Given the description of an element on the screen output the (x, y) to click on. 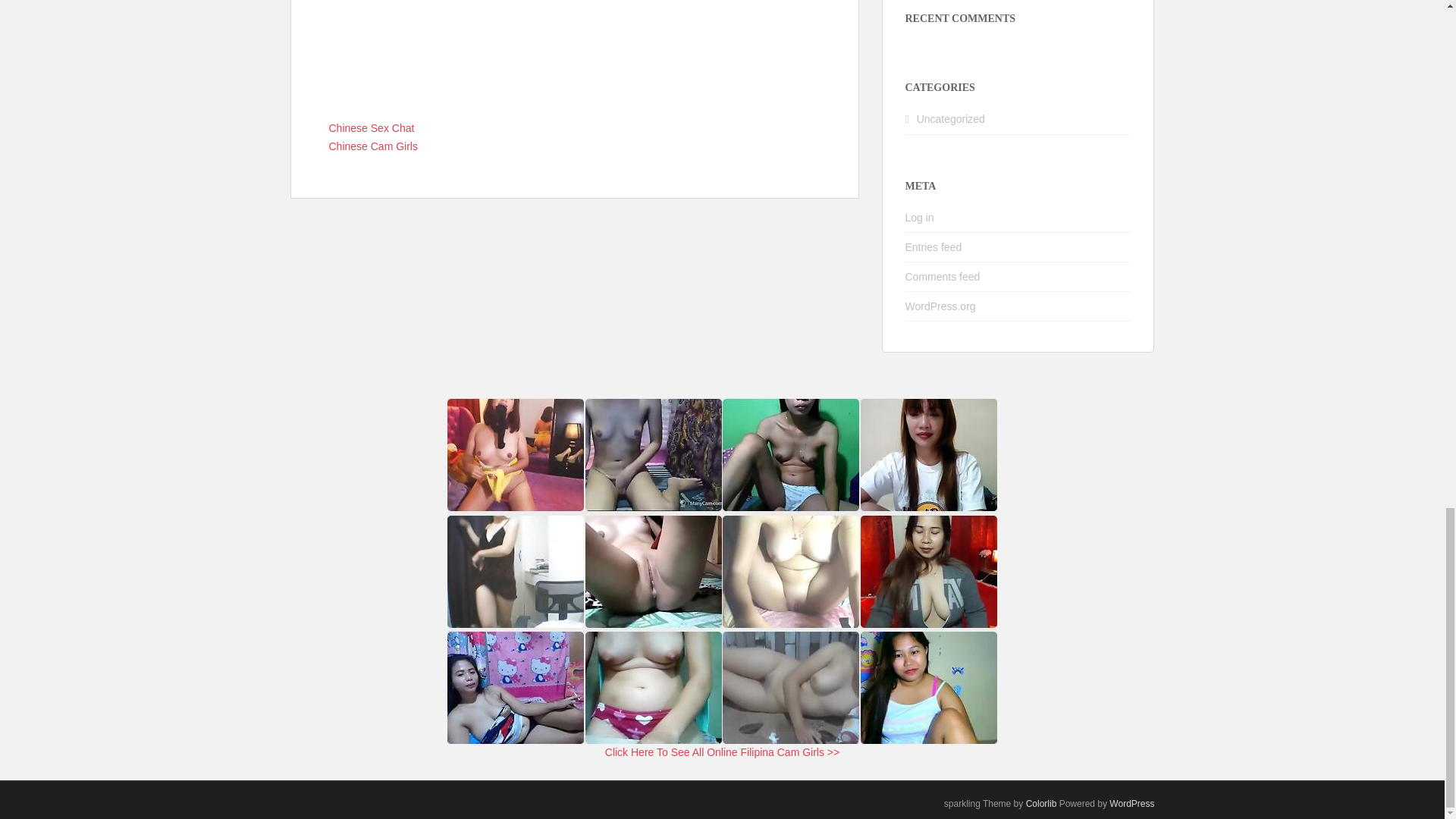
Chinese Cam Girls (373, 146)
Uncategorized (951, 119)
Log in (919, 217)
Chinese Sex Chat (371, 128)
YouTube video player (574, 53)
